Given the description of an element on the screen output the (x, y) to click on. 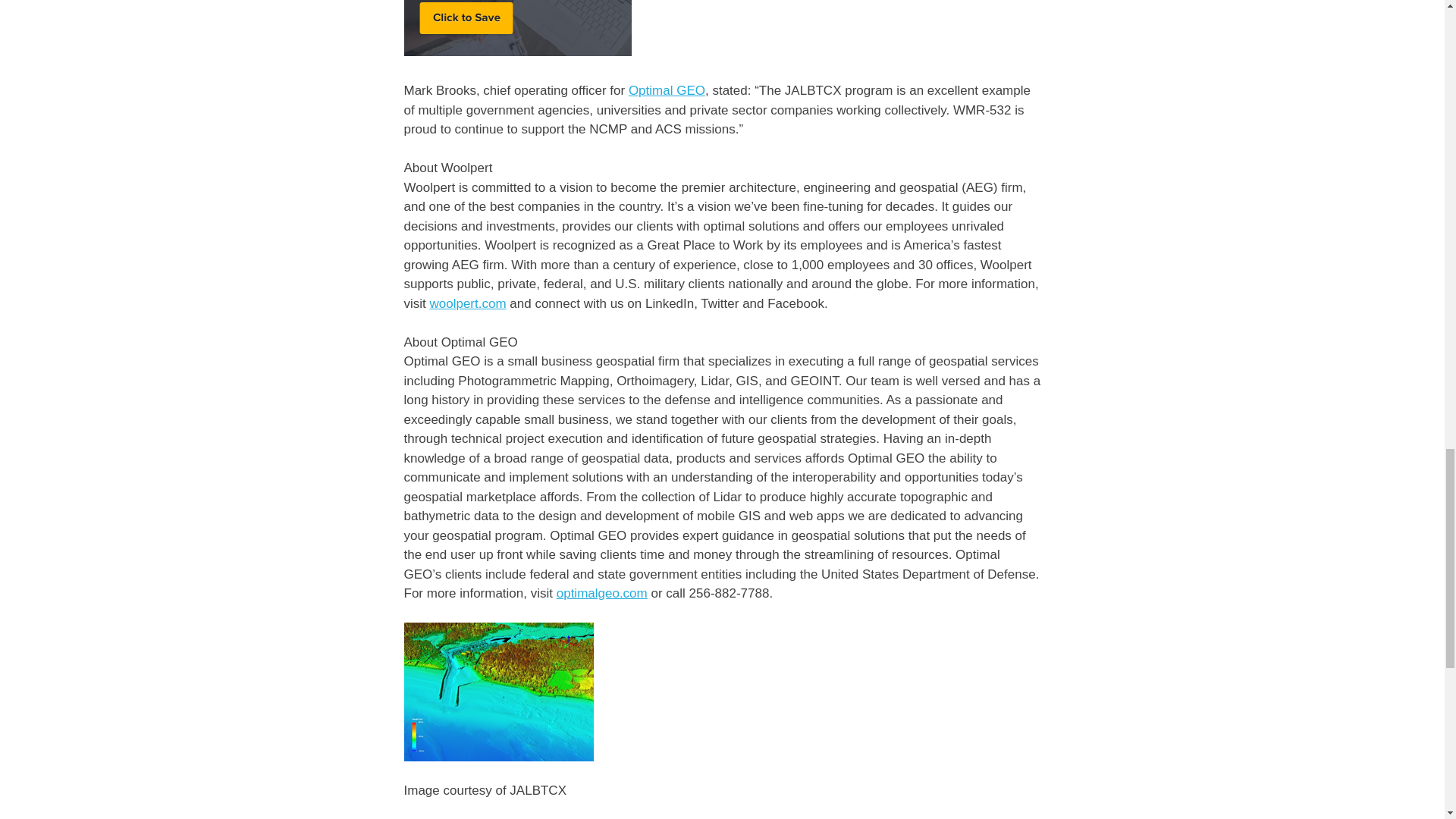
woolpert.com (467, 302)
optimalgeo.com (601, 593)
Optimal GEO (666, 90)
